Given the description of an element on the screen output the (x, y) to click on. 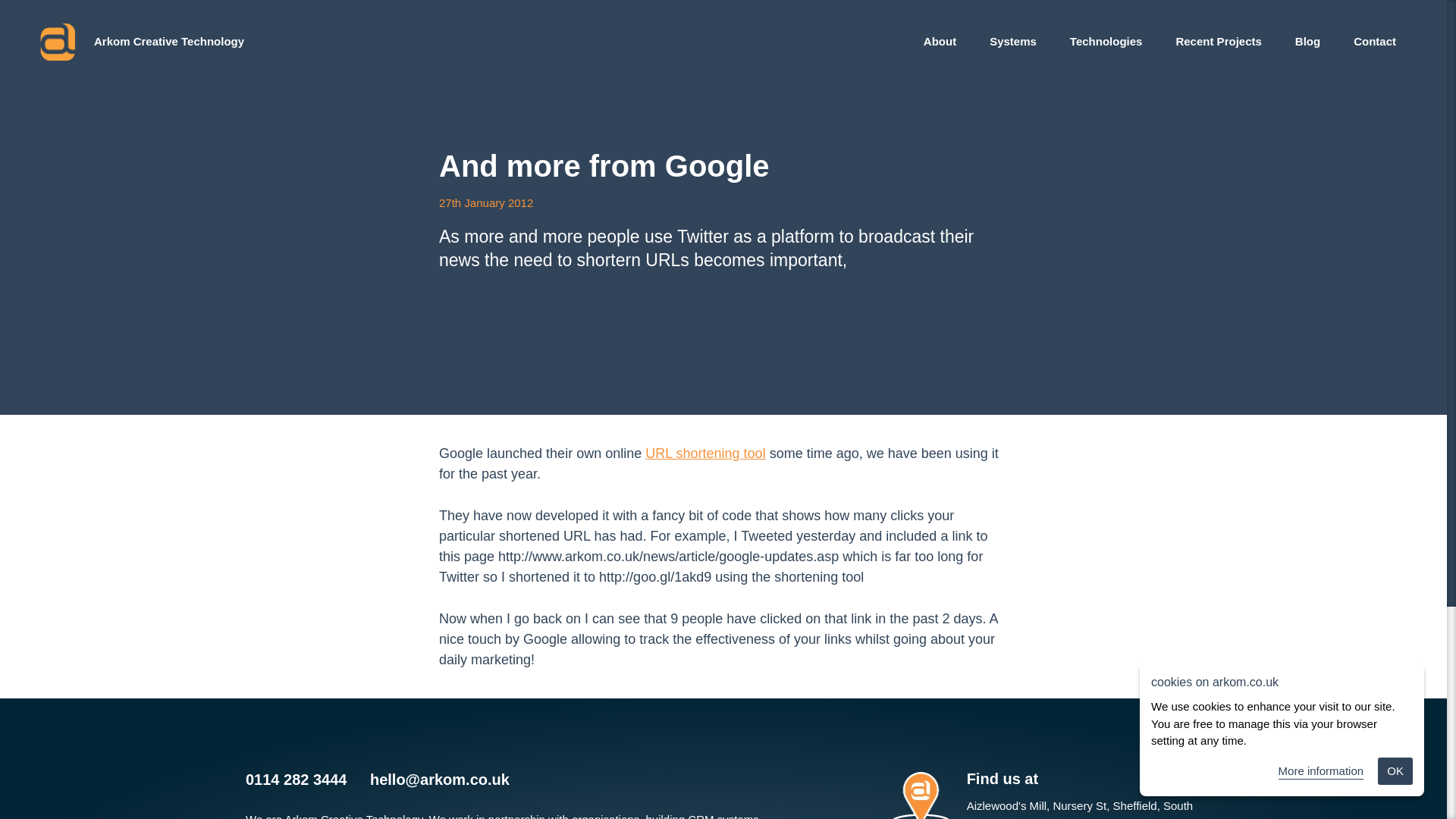
Blog (1307, 41)
Recent Projects (1217, 41)
About (939, 41)
Systems (1013, 41)
Recent Projects (1217, 41)
Technologies (1106, 41)
OK (1394, 770)
Contact (1372, 41)
More information (1321, 771)
Blog (1307, 41)
Systems (1013, 41)
Technologies (1106, 41)
URL shortening tool (705, 453)
About (939, 41)
